Given the description of an element on the screen output the (x, y) to click on. 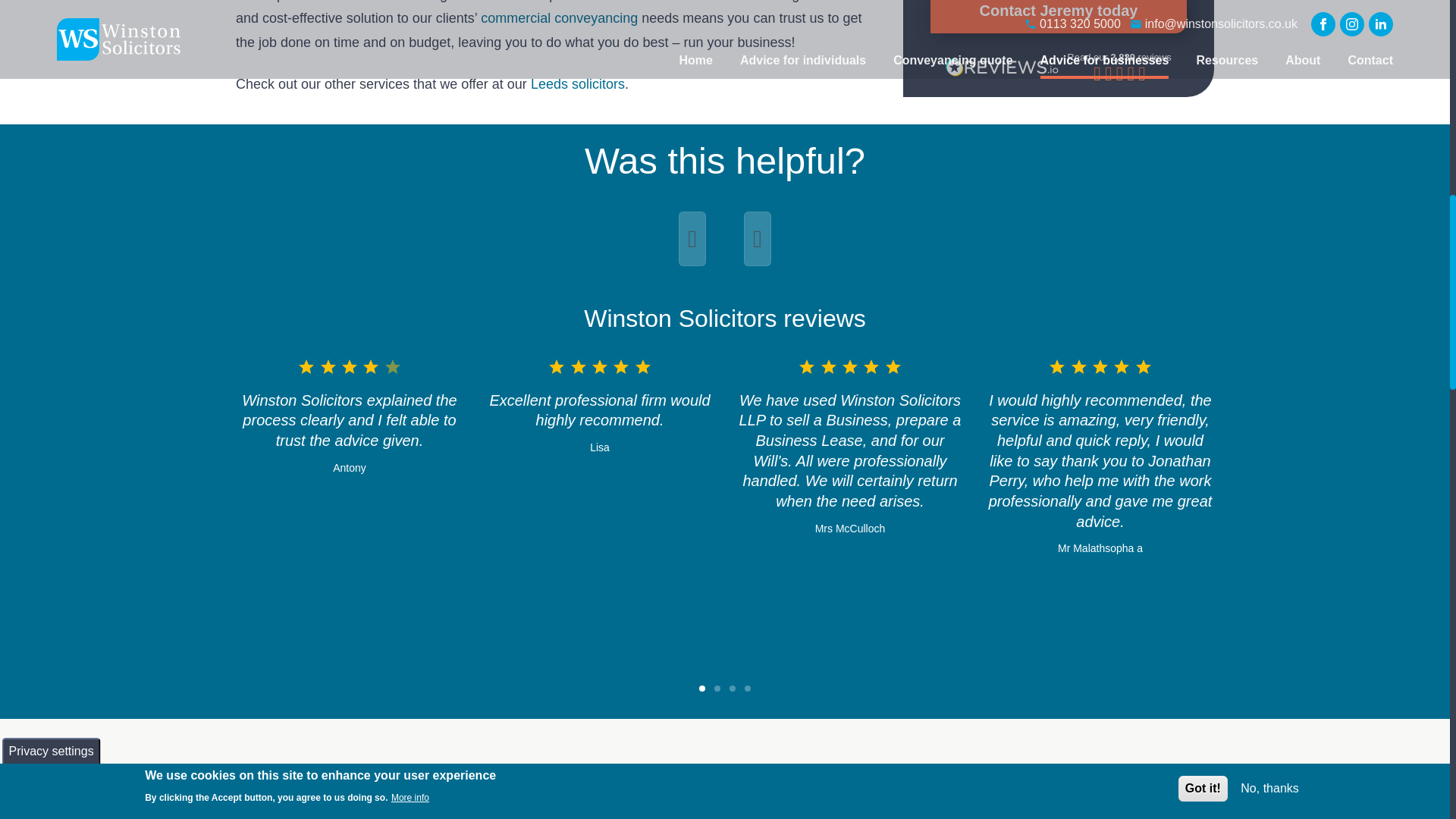
Commercial property (558, 17)
Winston Solicitors commercial team (1058, 796)
Time is ticking to start repaying bounce back loans (724, 796)
